Given the description of an element on the screen output the (x, y) to click on. 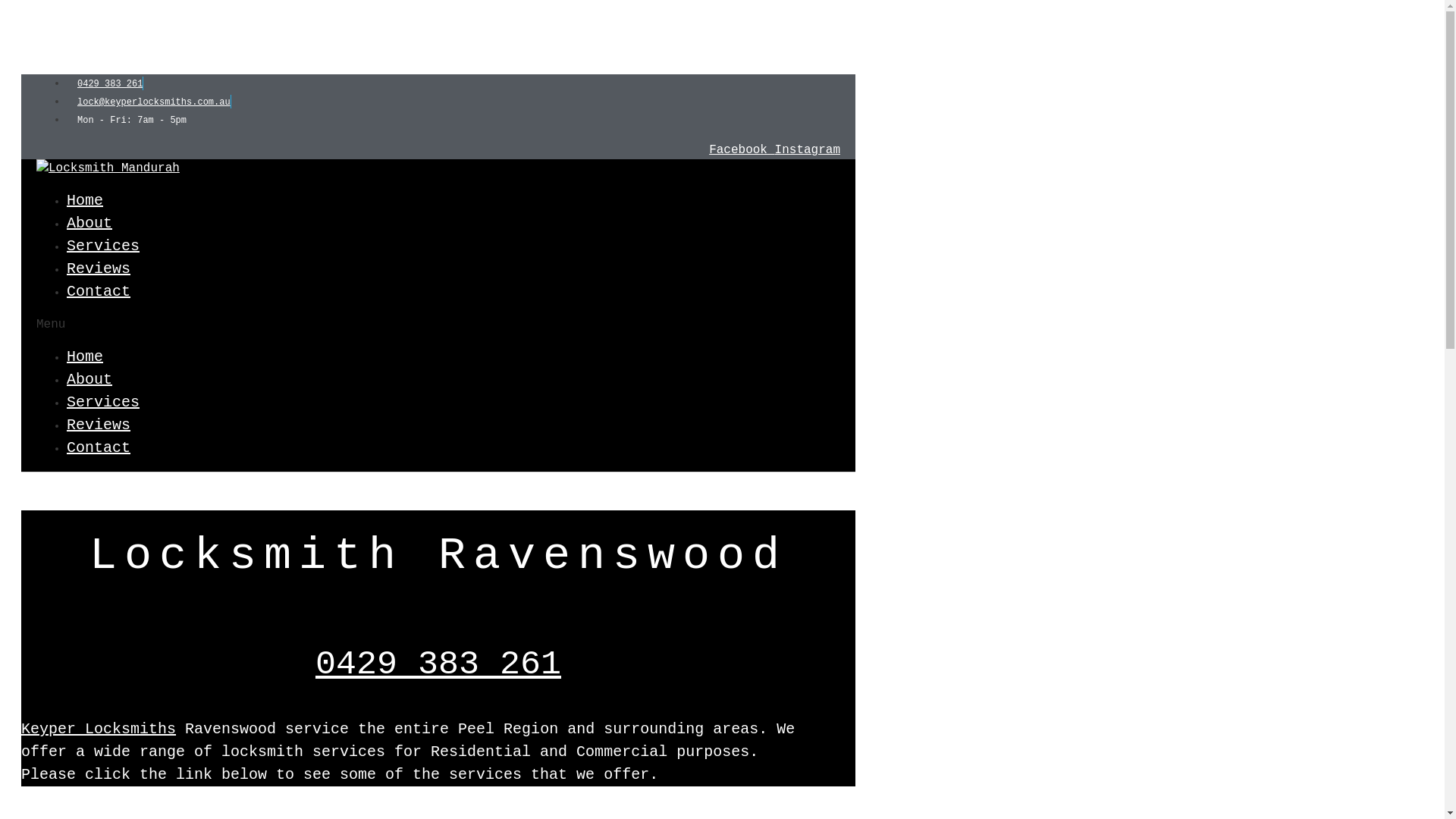
Services Element type: text (102, 245)
Contact Element type: text (98, 447)
Facebook Element type: text (741, 149)
Home Element type: text (84, 200)
lock@keyperlocksmiths.com.au Element type: text (148, 102)
Keyper Locksmiths Element type: text (98, 728)
Services Element type: text (102, 402)
Skip to content Element type: text (60, 14)
Contact Element type: text (98, 291)
About Element type: text (89, 379)
Reviews Element type: text (98, 424)
About Element type: text (89, 222)
0429 383 261 Element type: text (438, 664)
Instagram Element type: text (807, 149)
Home Element type: text (84, 356)
Reviews Element type: text (98, 268)
0429 383 261 Element type: text (104, 83)
